Given the description of an element on the screen output the (x, y) to click on. 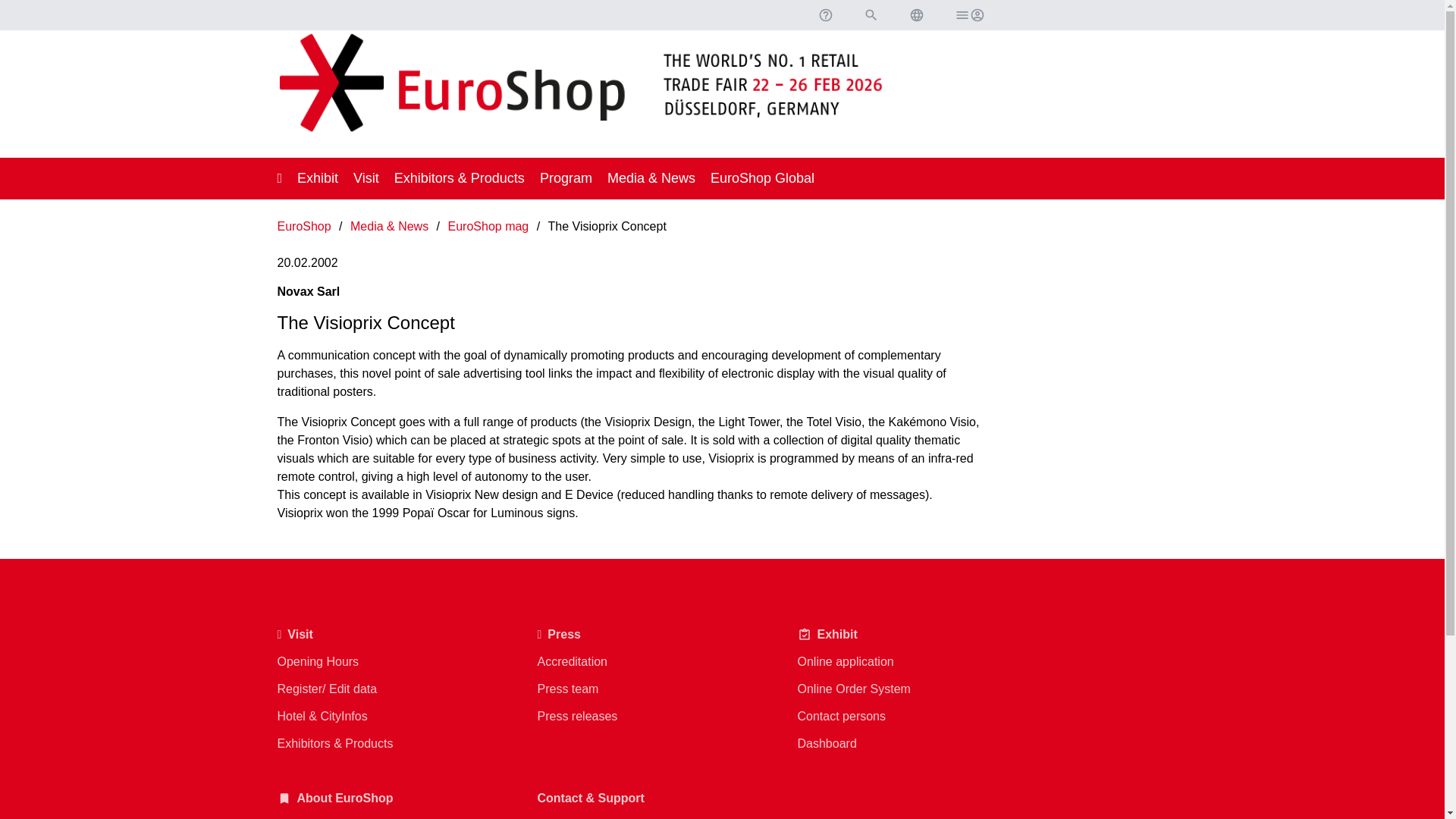
ENGLISH (915, 14)
Support (824, 14)
Search (870, 14)
Login (968, 14)
